Given the description of an element on the screen output the (x, y) to click on. 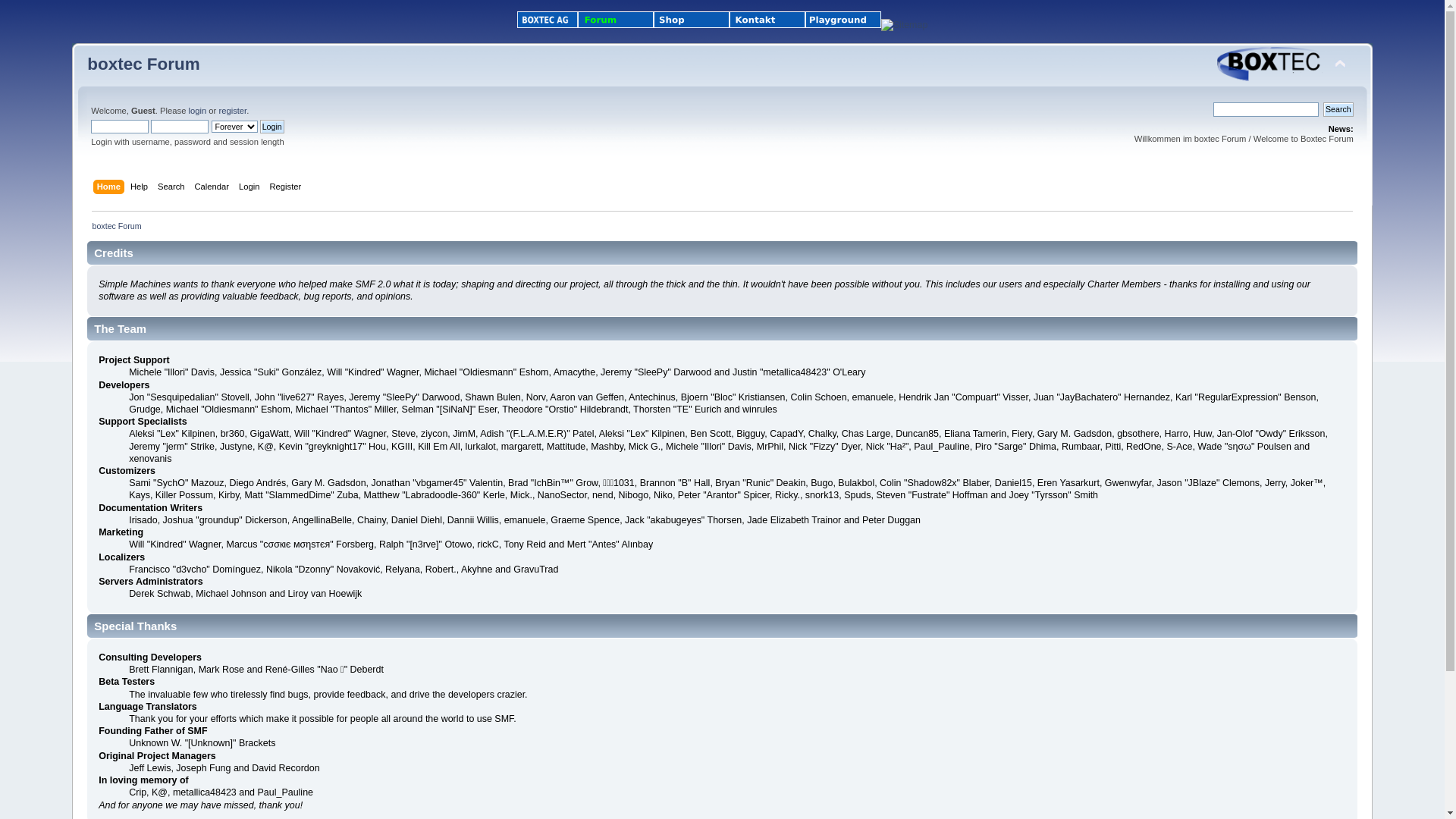
Login Element type: text (250, 187)
Login Element type: text (272, 126)
Help Element type: text (140, 187)
login Element type: text (197, 110)
Home Element type: text (110, 187)
Register Element type: text (287, 187)
register Element type: text (232, 110)
Calendar Element type: text (213, 187)
boxtec Forum Element type: hover (1270, 64)
boxtec Forum Element type: text (143, 63)
Search Element type: text (172, 187)
boxtec Forum Element type: text (116, 225)
Shrink or expand the header. Element type: hover (1339, 64)
Search Element type: text (1338, 109)
